Given the description of an element on the screen output the (x, y) to click on. 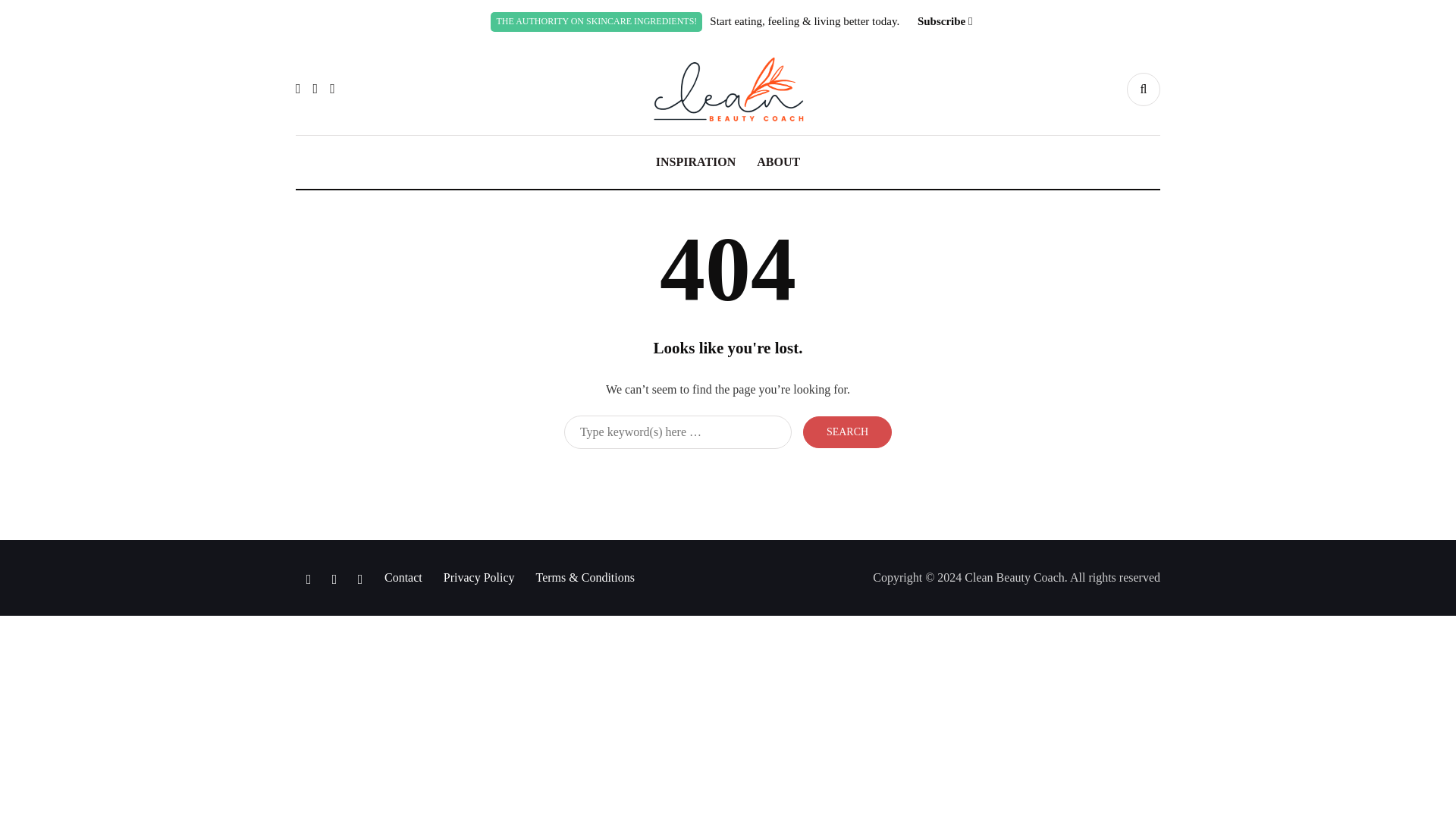
Contact (403, 576)
INSPIRATION (695, 162)
ABOUT (777, 162)
Privacy Policy (479, 576)
Search (847, 431)
Subscribe (941, 21)
Search (847, 431)
